Given the description of an element on the screen output the (x, y) to click on. 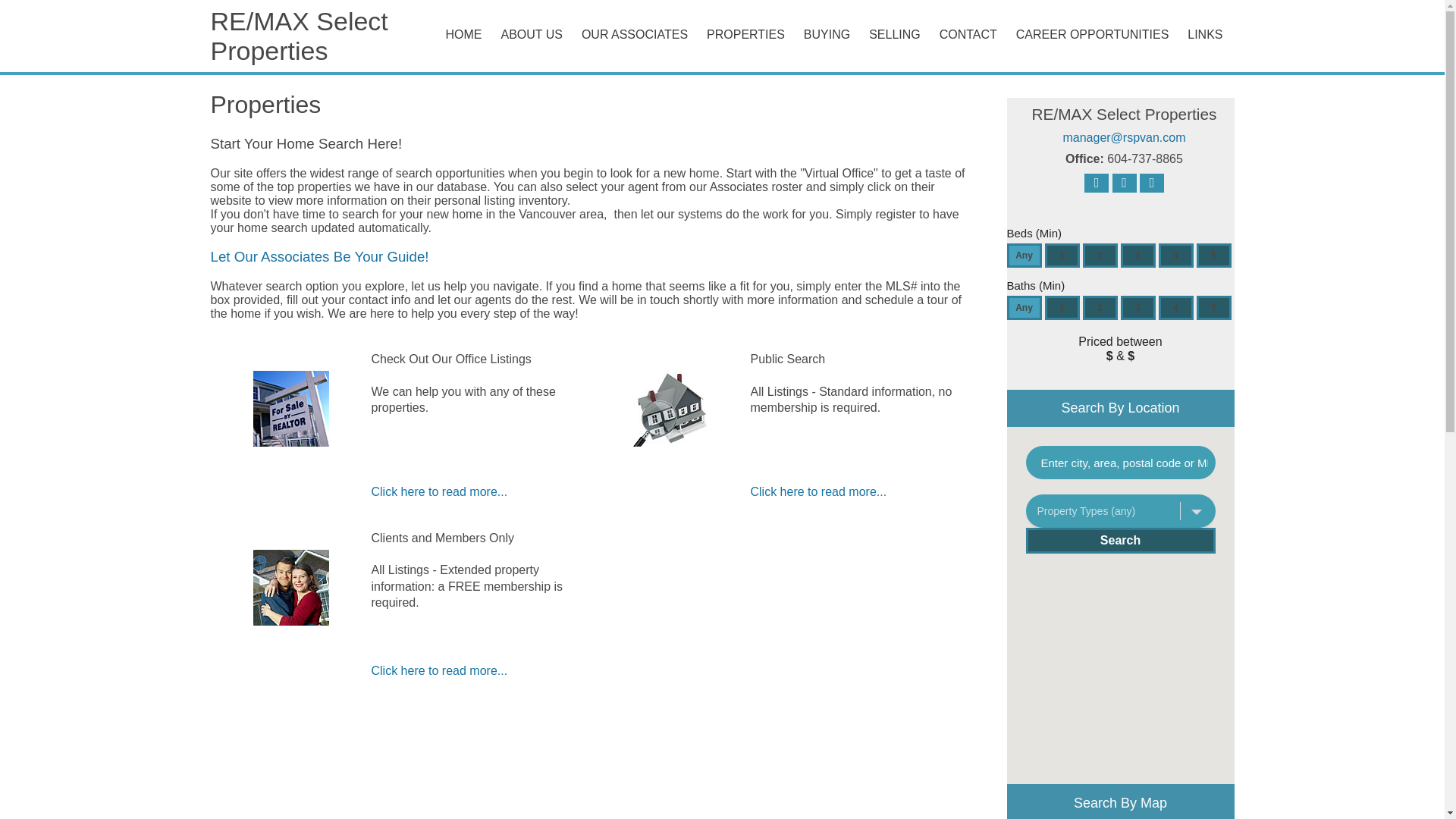
SELLING (896, 34)
Let Our Associates Be Your Guide! (320, 256)
OUR ASSOCIATES (635, 34)
PROPERTIES (745, 34)
Search (1119, 540)
CAREER OPPORTUNITIES (1094, 34)
HOME (465, 34)
Click here to read more... (818, 491)
BUYING (828, 34)
CONTACT (970, 34)
